Given the description of an element on the screen output the (x, y) to click on. 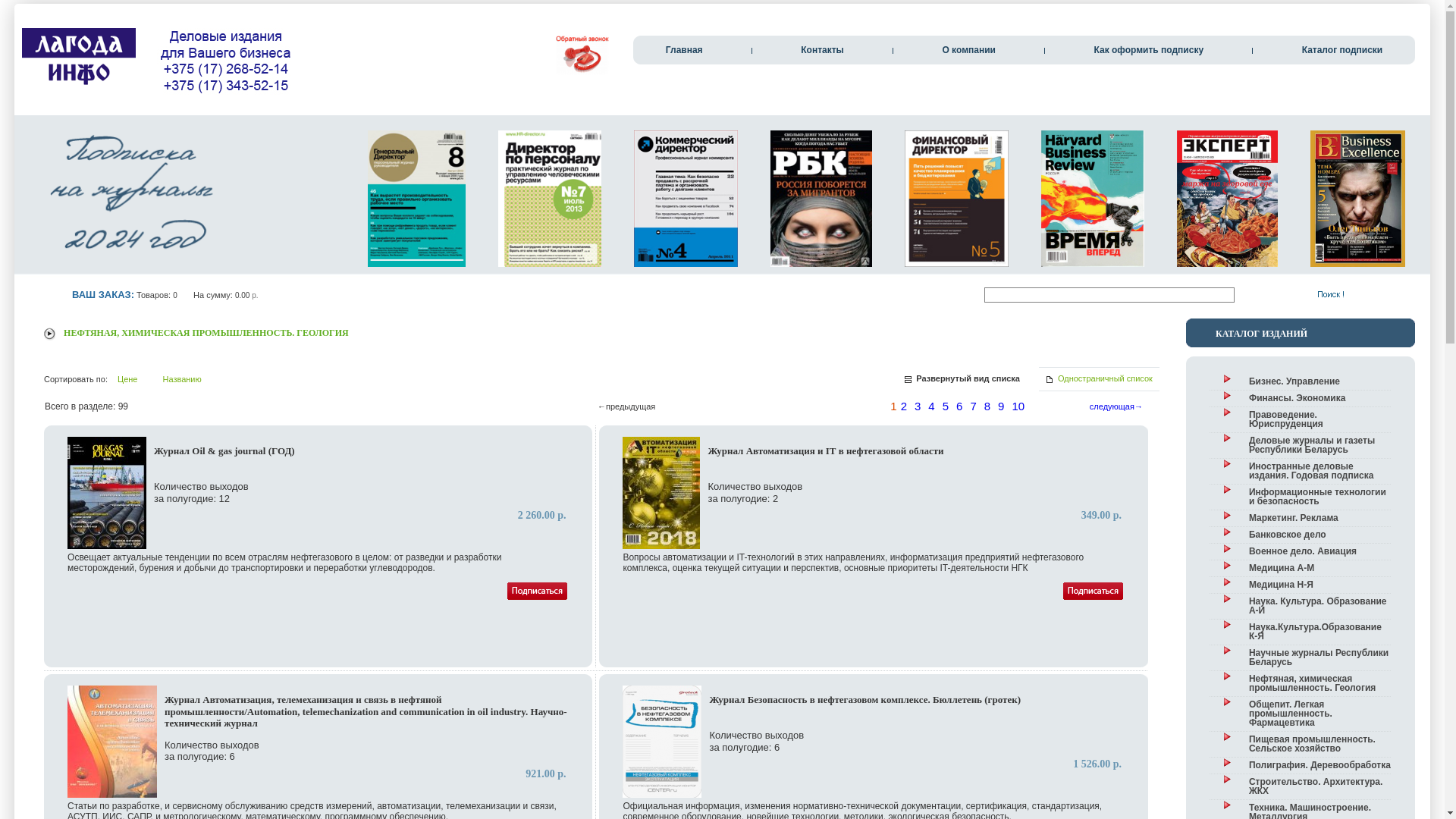
7 Element type: text (972, 405)
 Banner3  Element type: hover (130, 196)
4 Element type: text (931, 405)
3 Element type: text (917, 405)
8 Element type: text (987, 405)
5 Element type: text (945, 405)
9 Element type: text (1000, 405)
10 Element type: text (1017, 405)
6 Element type: text (959, 405)
2 Element type: text (903, 405)
